Given the description of an element on the screen output the (x, y) to click on. 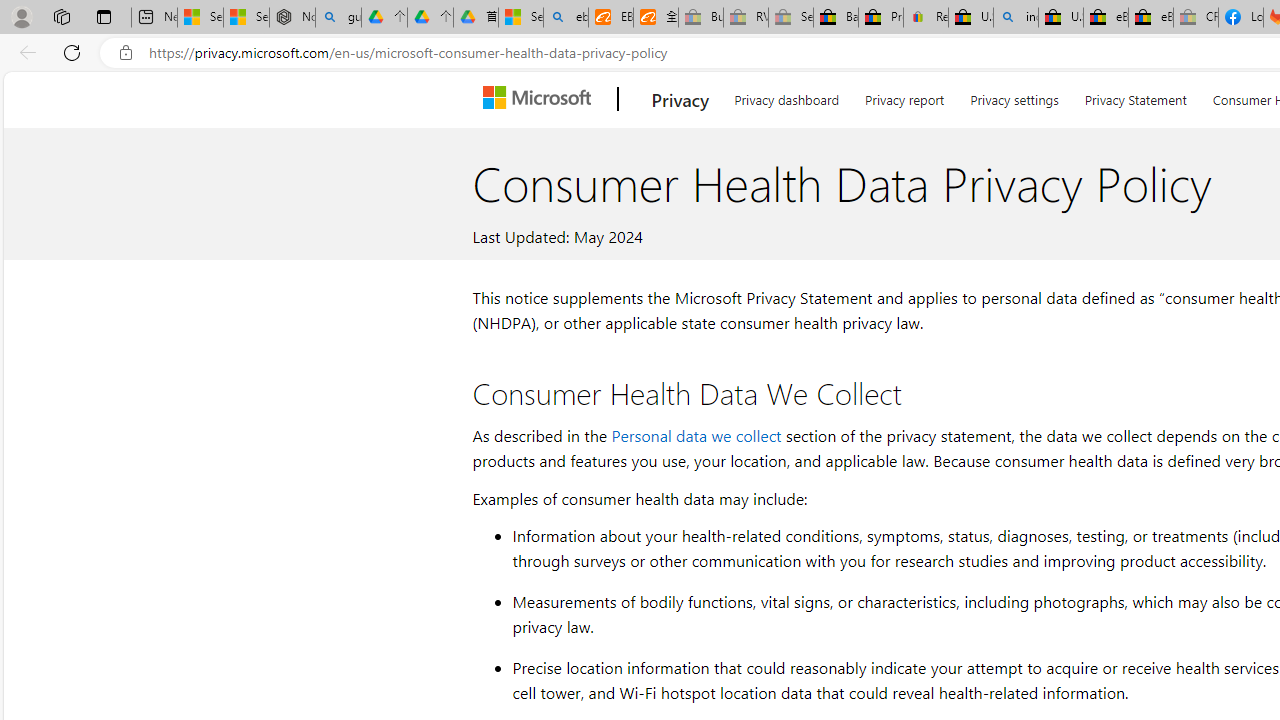
Privacy dashboard (786, 96)
Privacy dashboard (786, 96)
Privacy report (904, 96)
guge yunpan - Search (338, 17)
U.S. State Privacy Disclosures - eBay Inc. (1060, 17)
eBay Inc. Reports Third Quarter 2023 Results (1150, 17)
Microsoft (541, 99)
Personal data we collect (696, 434)
